Given the description of an element on the screen output the (x, y) to click on. 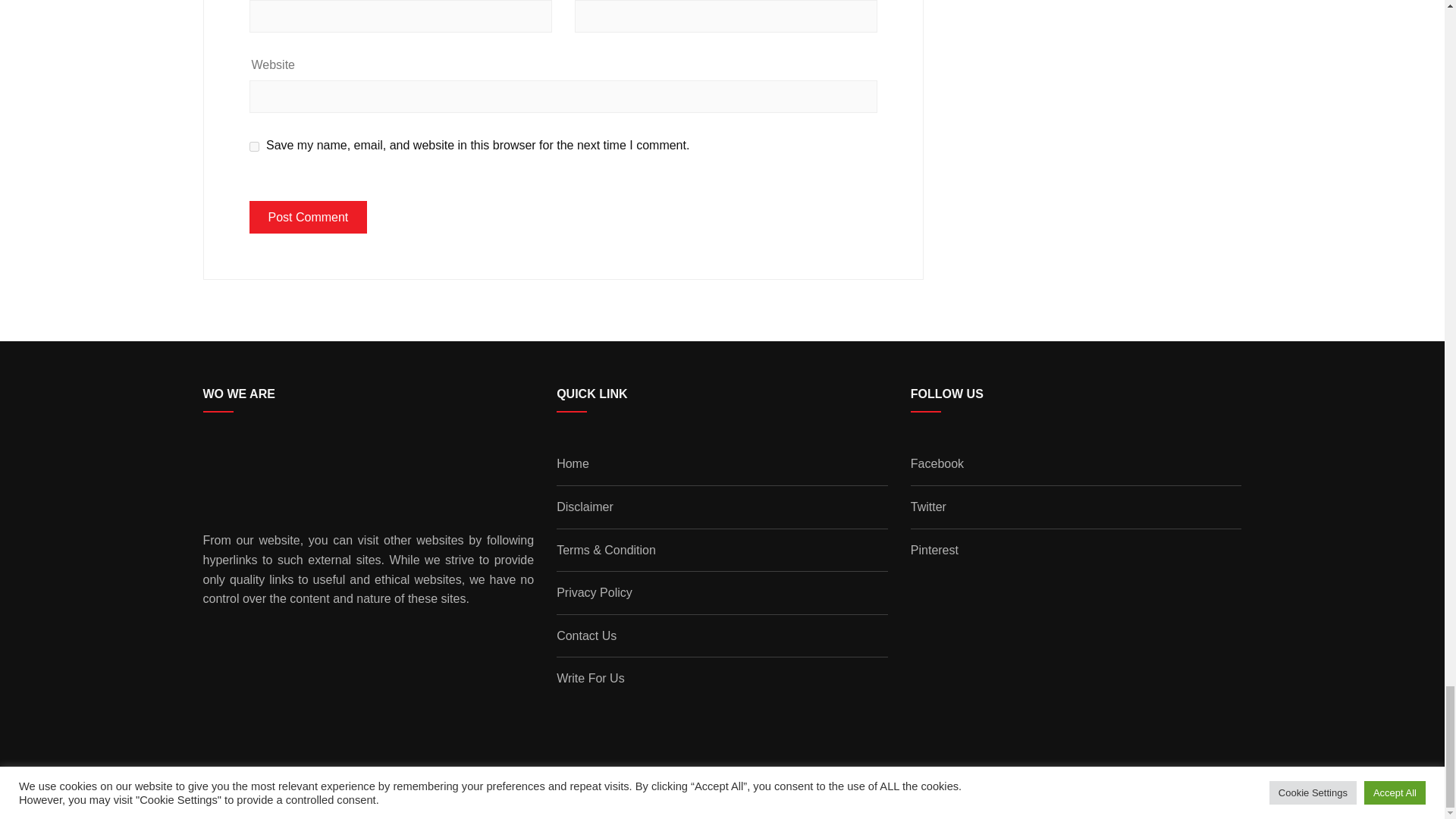
Post Comment (307, 217)
yes (253, 146)
